Given the description of an element on the screen output the (x, y) to click on. 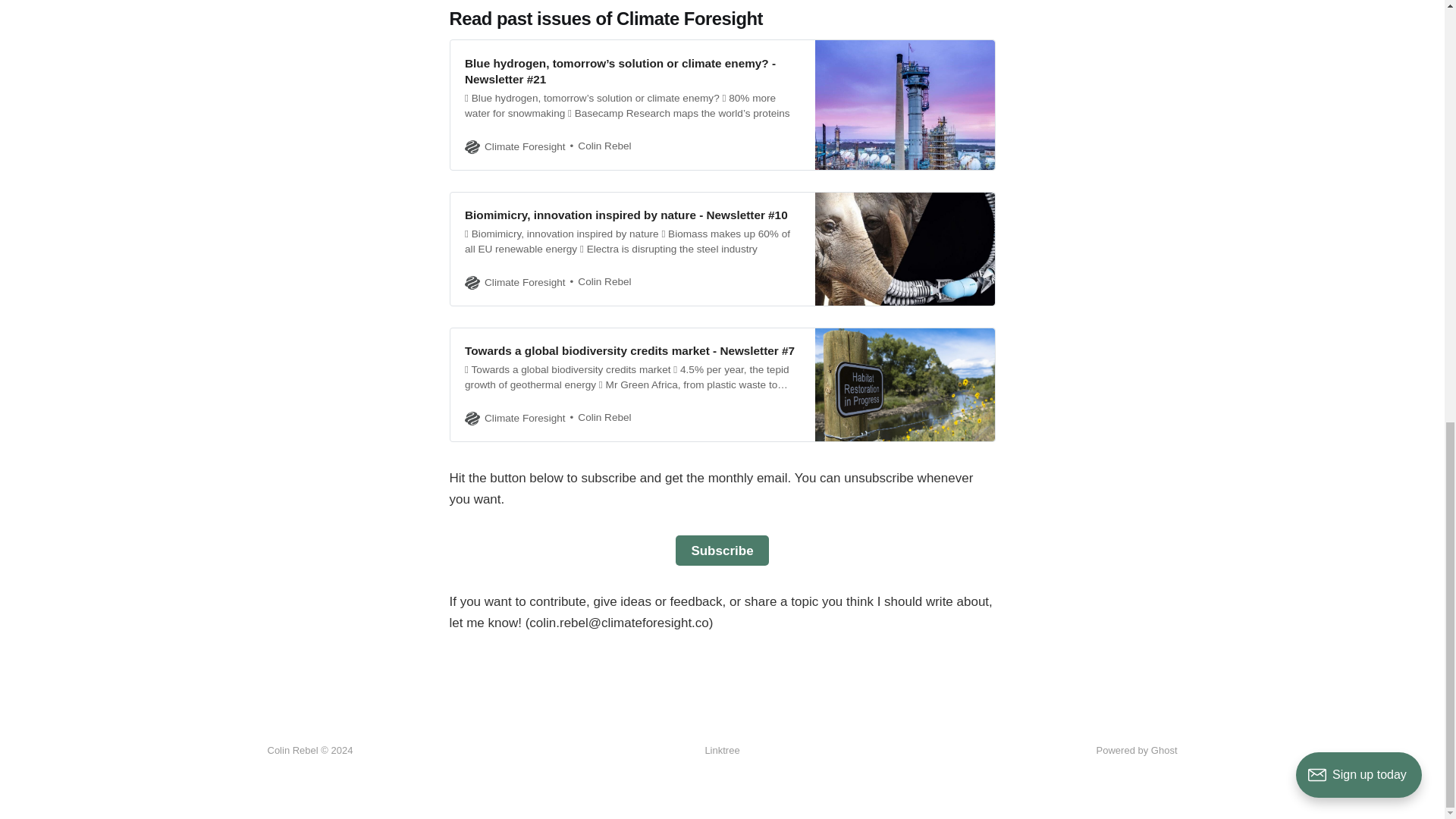
Powered by Ghost (1136, 749)
Subscribe (721, 550)
Linktree (721, 750)
